Given the description of an element on the screen output the (x, y) to click on. 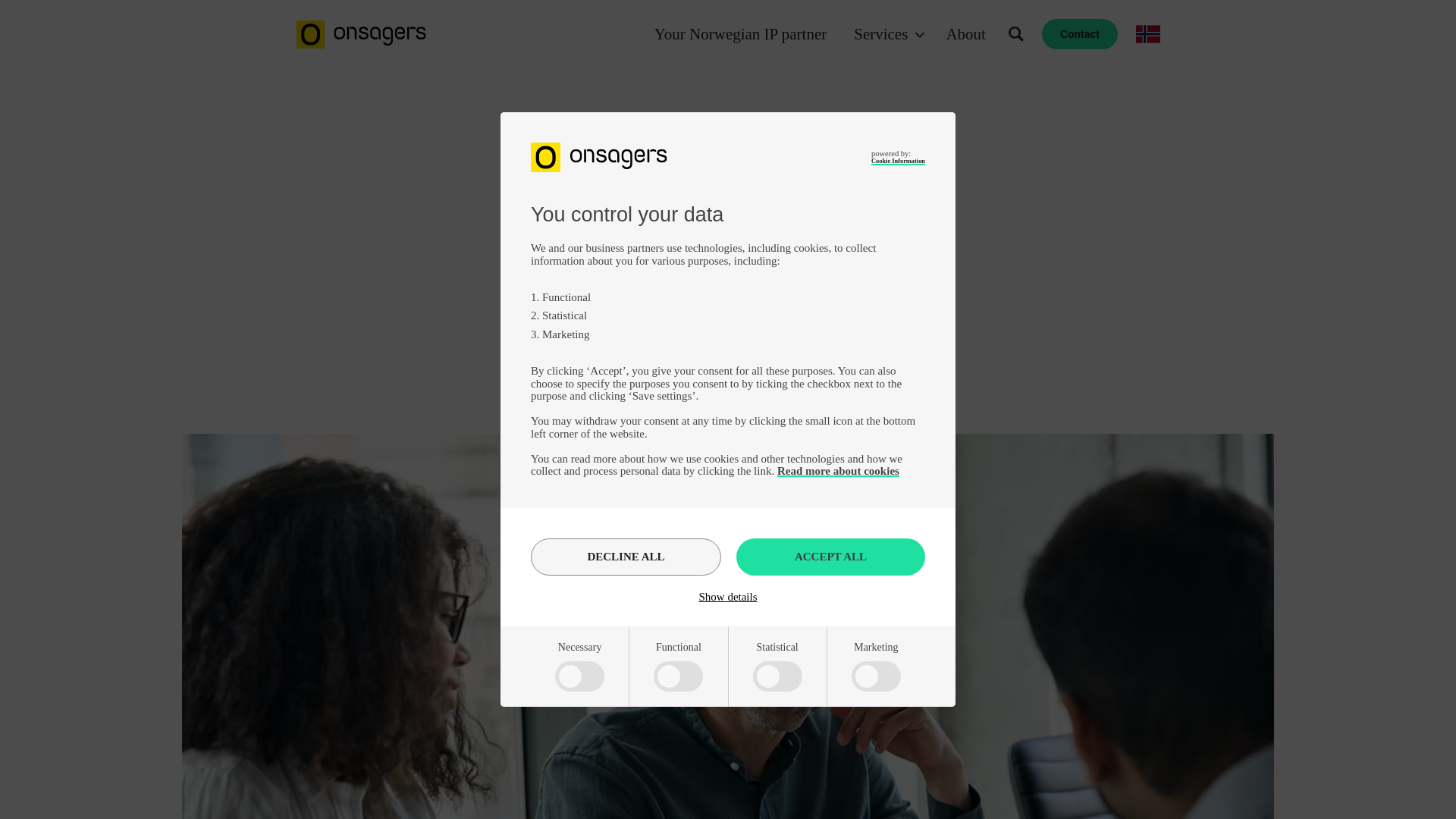
DECLINE ALL (625, 556)
Read more about cookies (838, 470)
ACCEPT ALL (830, 556)
Cookie Information (897, 161)
Show details (727, 596)
